Given the description of an element on the screen output the (x, y) to click on. 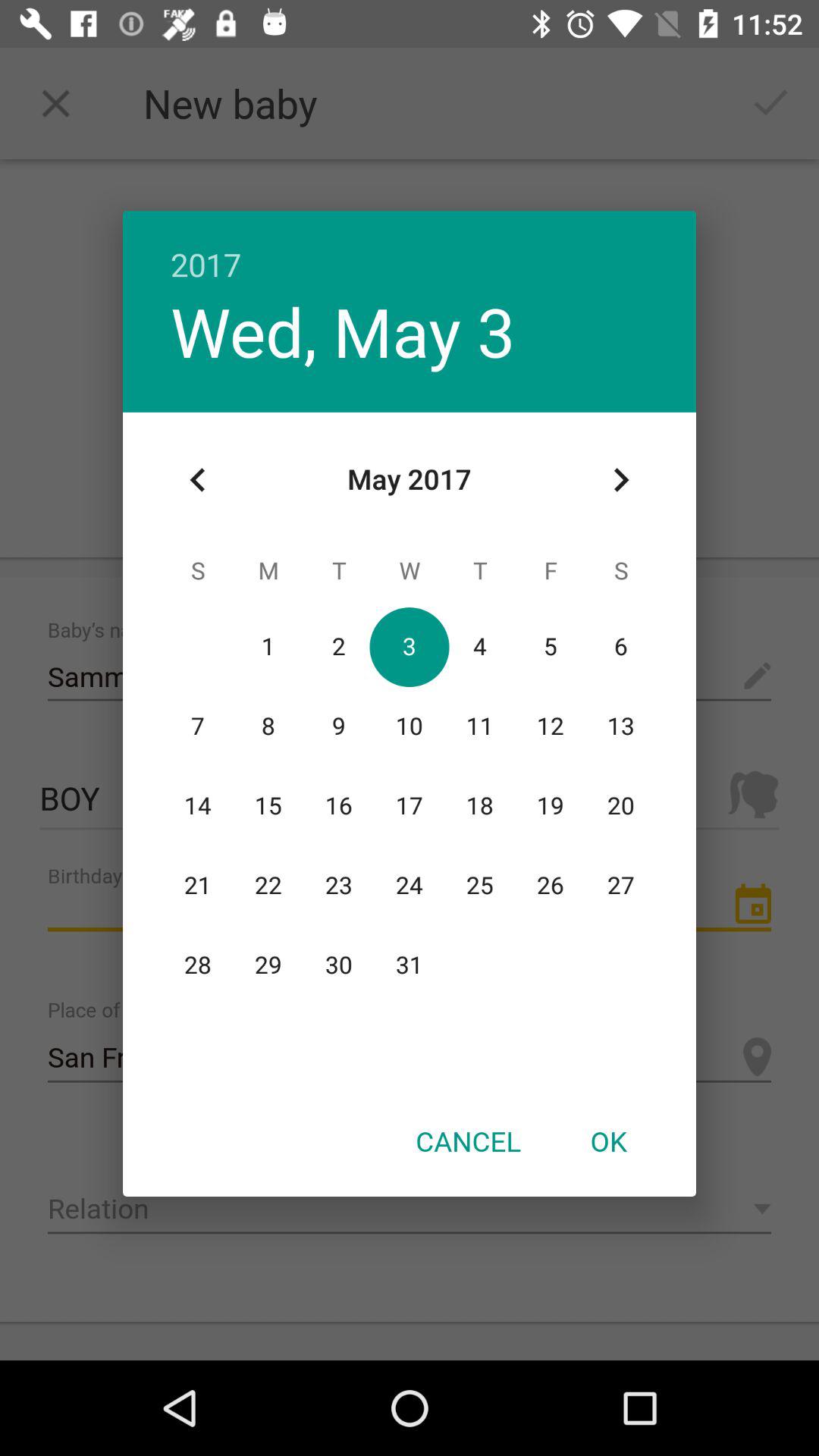
tap the wed, may 3 (342, 331)
